Given the description of an element on the screen output the (x, y) to click on. 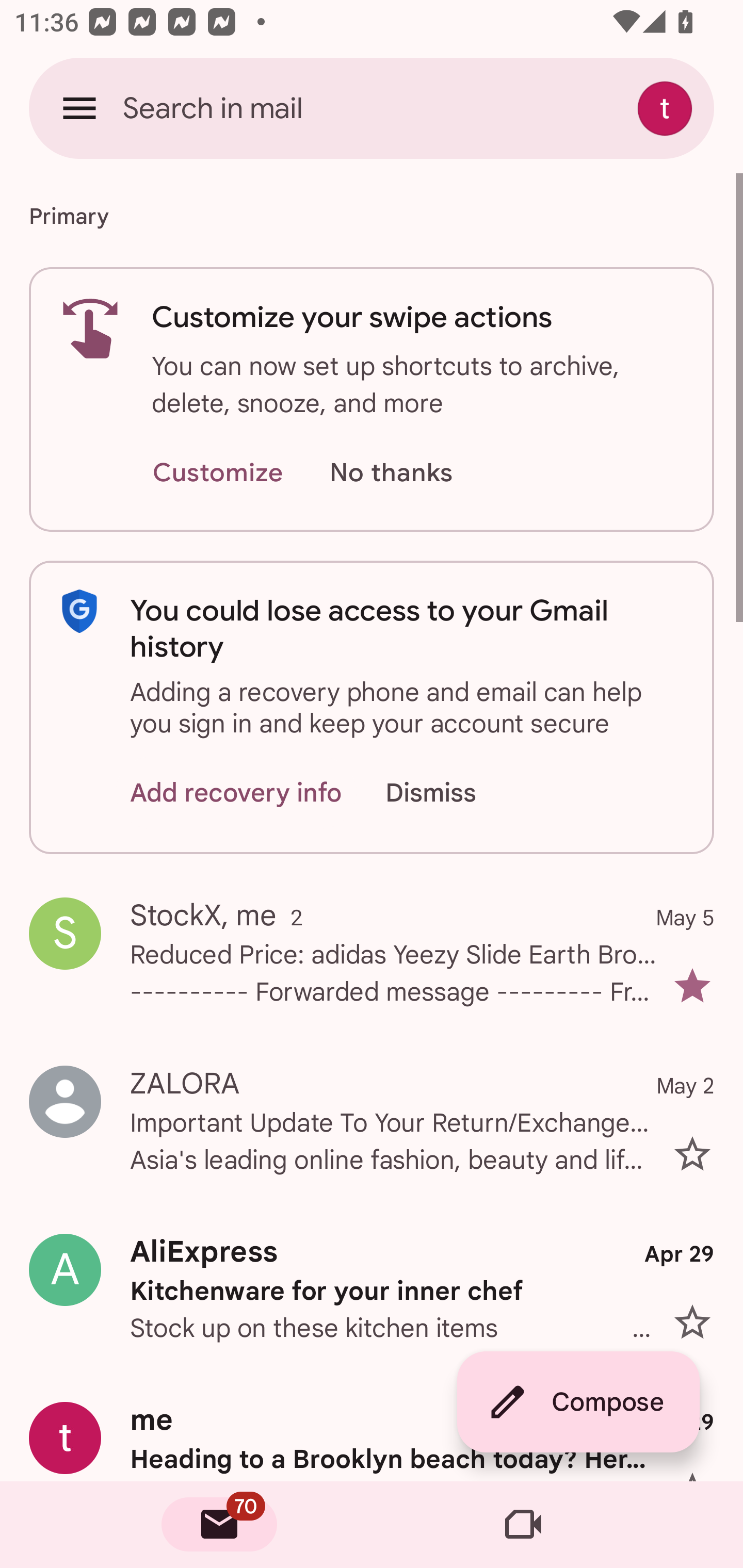
Open navigation drawer (79, 108)
Customize (217, 473)
No thanks (390, 473)
Add recovery info (235, 792)
Dismiss (449, 792)
Compose (577, 1401)
Meet (523, 1524)
